Given the description of an element on the screen output the (x, y) to click on. 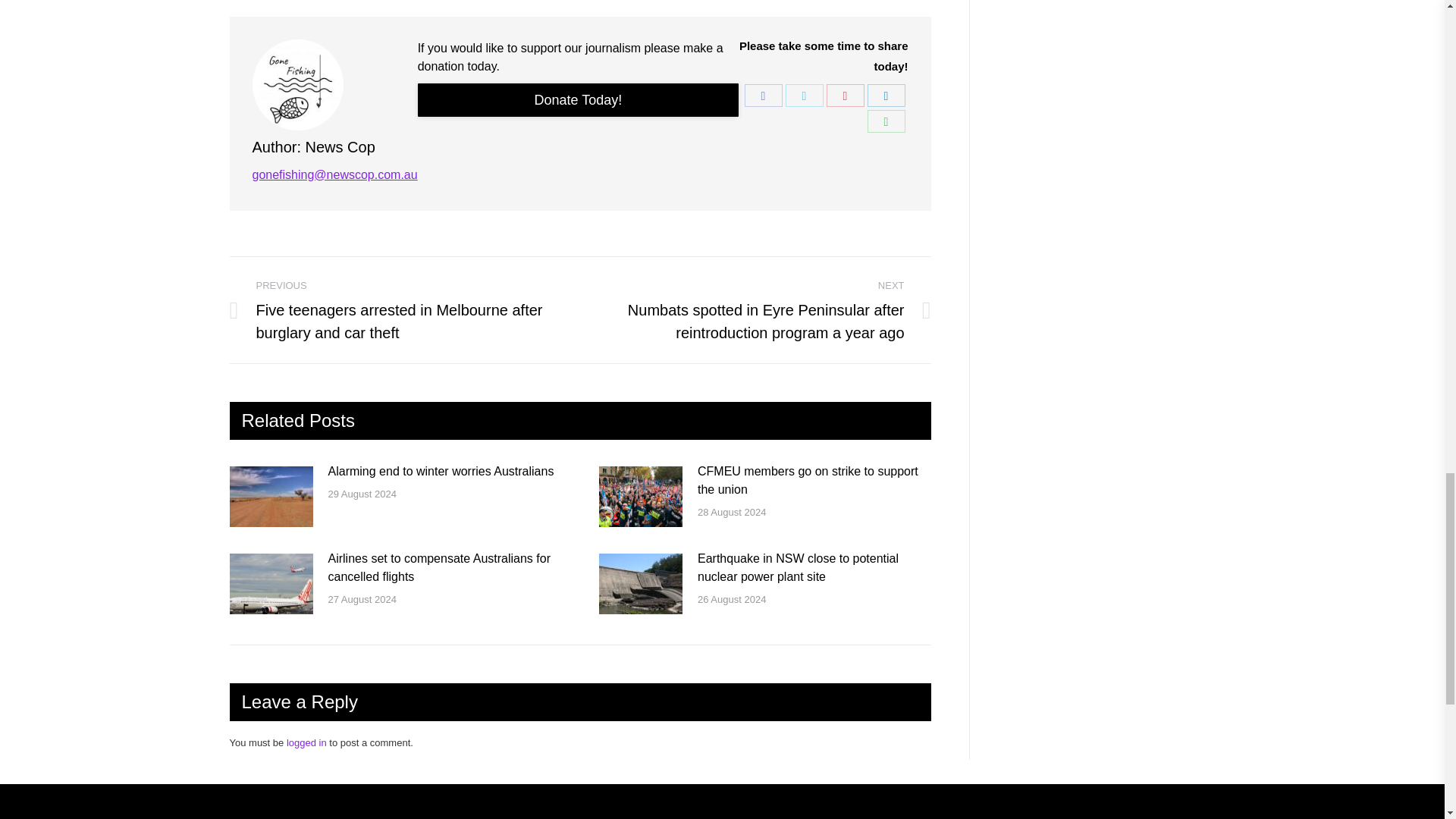
Twitter (805, 95)
Pinterest (845, 95)
Facebook (763, 95)
Complaints Form (578, 100)
